Given the description of an element on the screen output the (x, y) to click on. 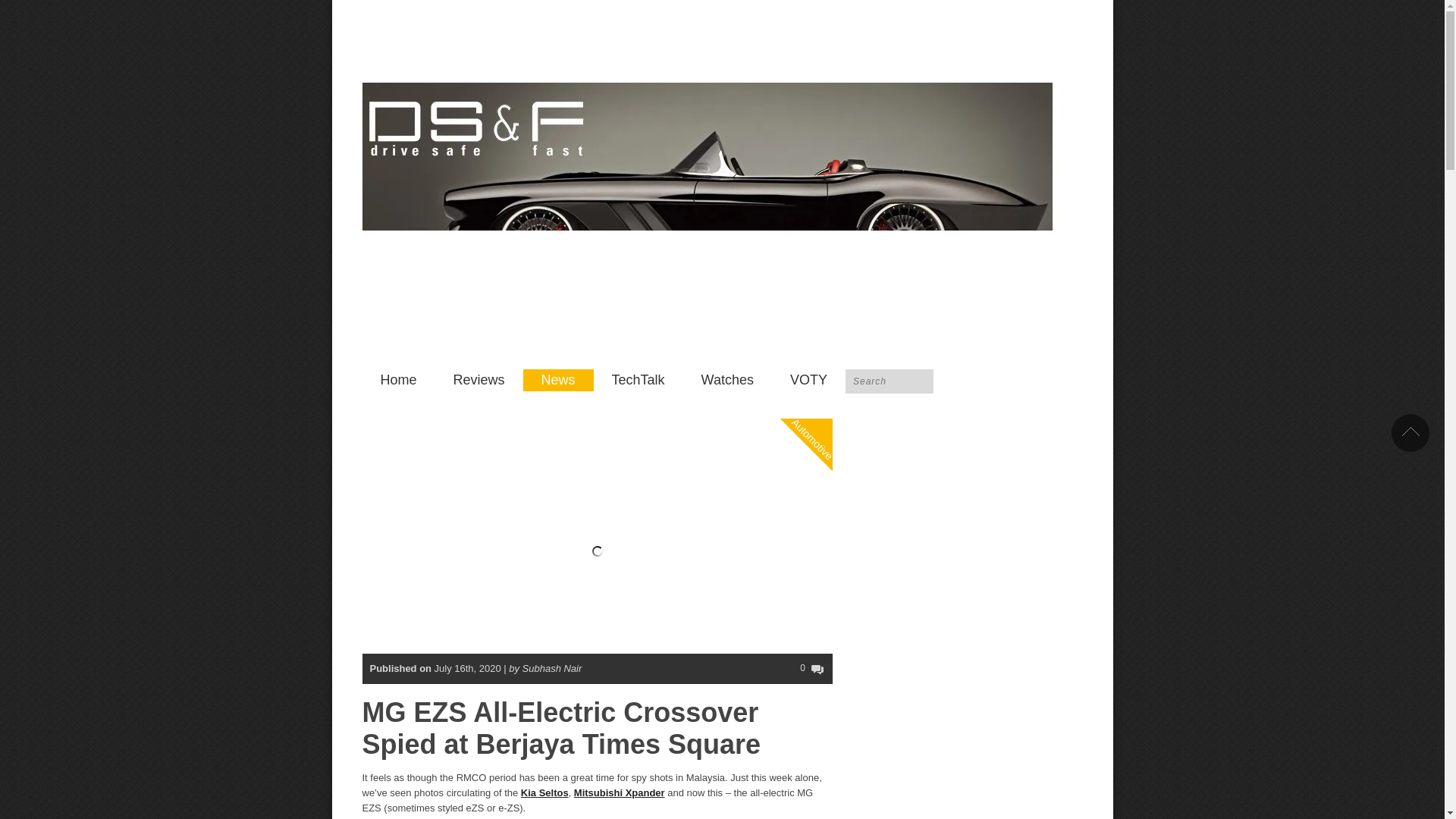
Mitsubishi Xpander (619, 792)
VOTY (808, 380)
News (558, 380)
Kia Seltos (545, 792)
Watches (726, 380)
Home (398, 380)
Automotive (828, 377)
TechTalk (638, 380)
Reviews (478, 380)
